Given the description of an element on the screen output the (x, y) to click on. 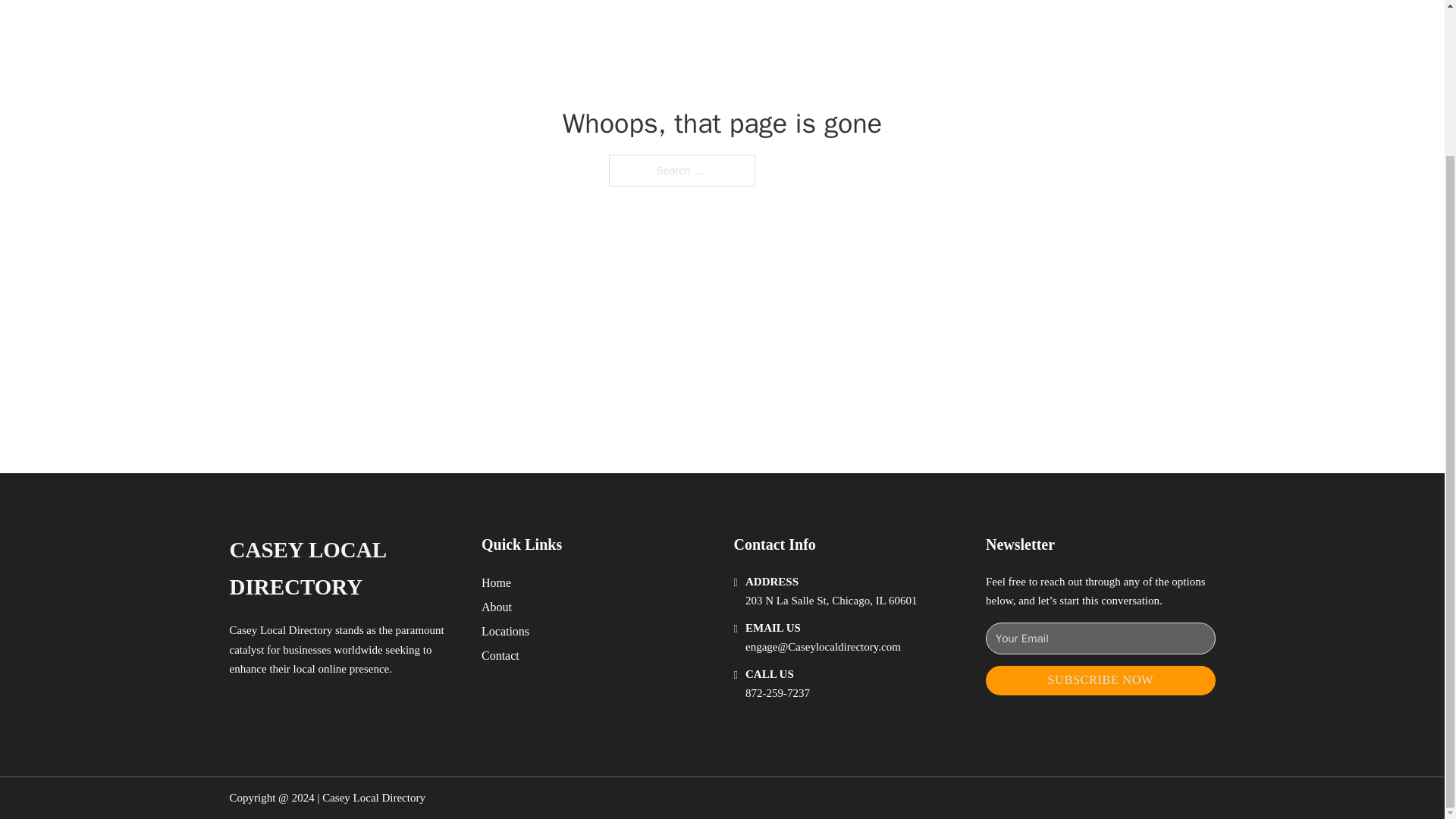
CASEY LOCAL DIRECTORY (343, 568)
Home (496, 582)
About (496, 607)
Locations (505, 630)
872-259-7237 (777, 693)
SUBSCRIBE NOW (1100, 680)
Contact (500, 655)
